Given the description of an element on the screen output the (x, y) to click on. 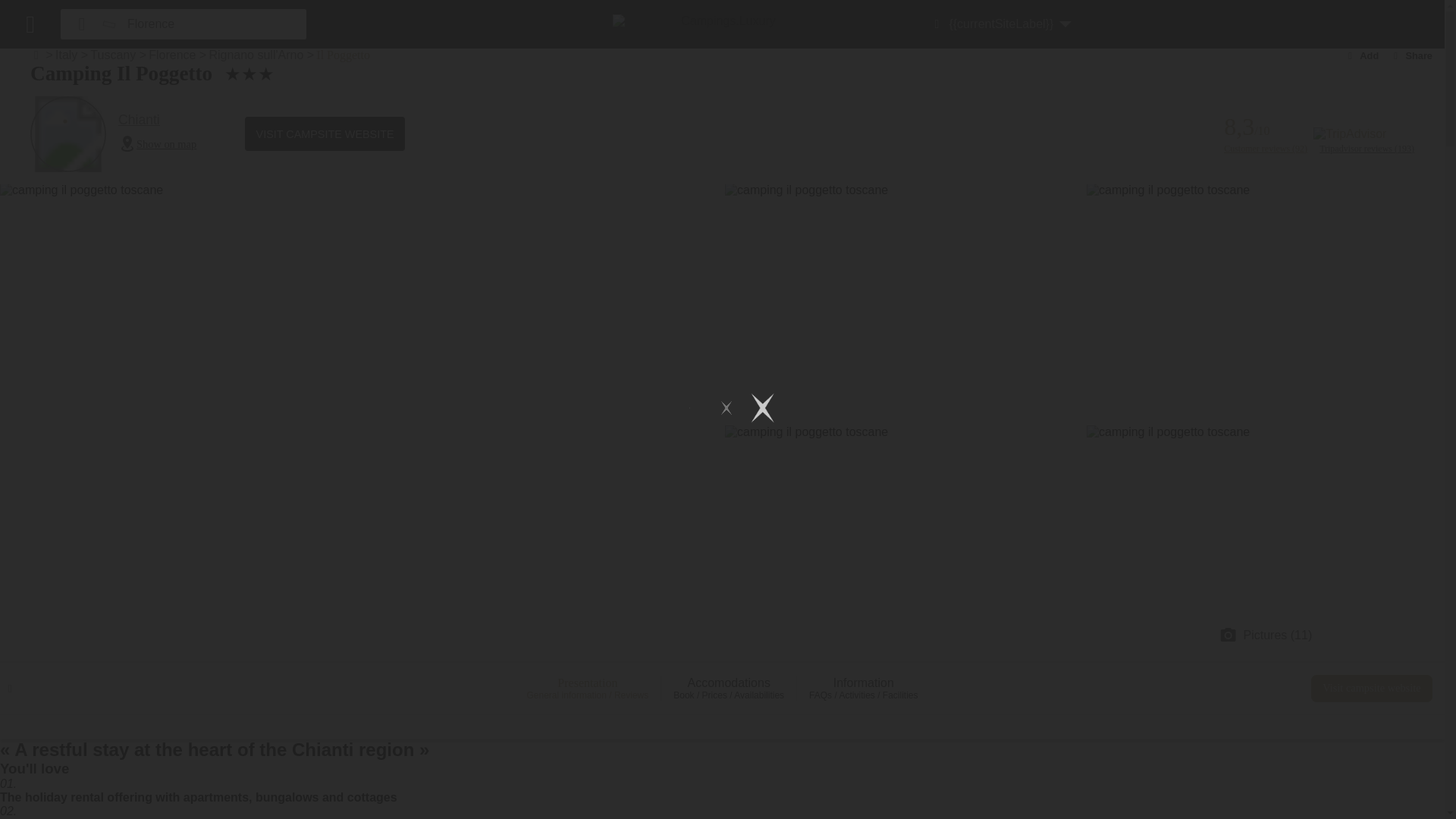
Tuscany (112, 54)
Il Poggetto (342, 54)
Luxury campsites in Florence (171, 54)
Share (1411, 55)
Florence (203, 24)
VISIT CAMPSITE WEBSITE (324, 133)
Florence (203, 24)
Chianti (156, 119)
Log in (1107, 22)
Add (1361, 55)
